Given the description of an element on the screen output the (x, y) to click on. 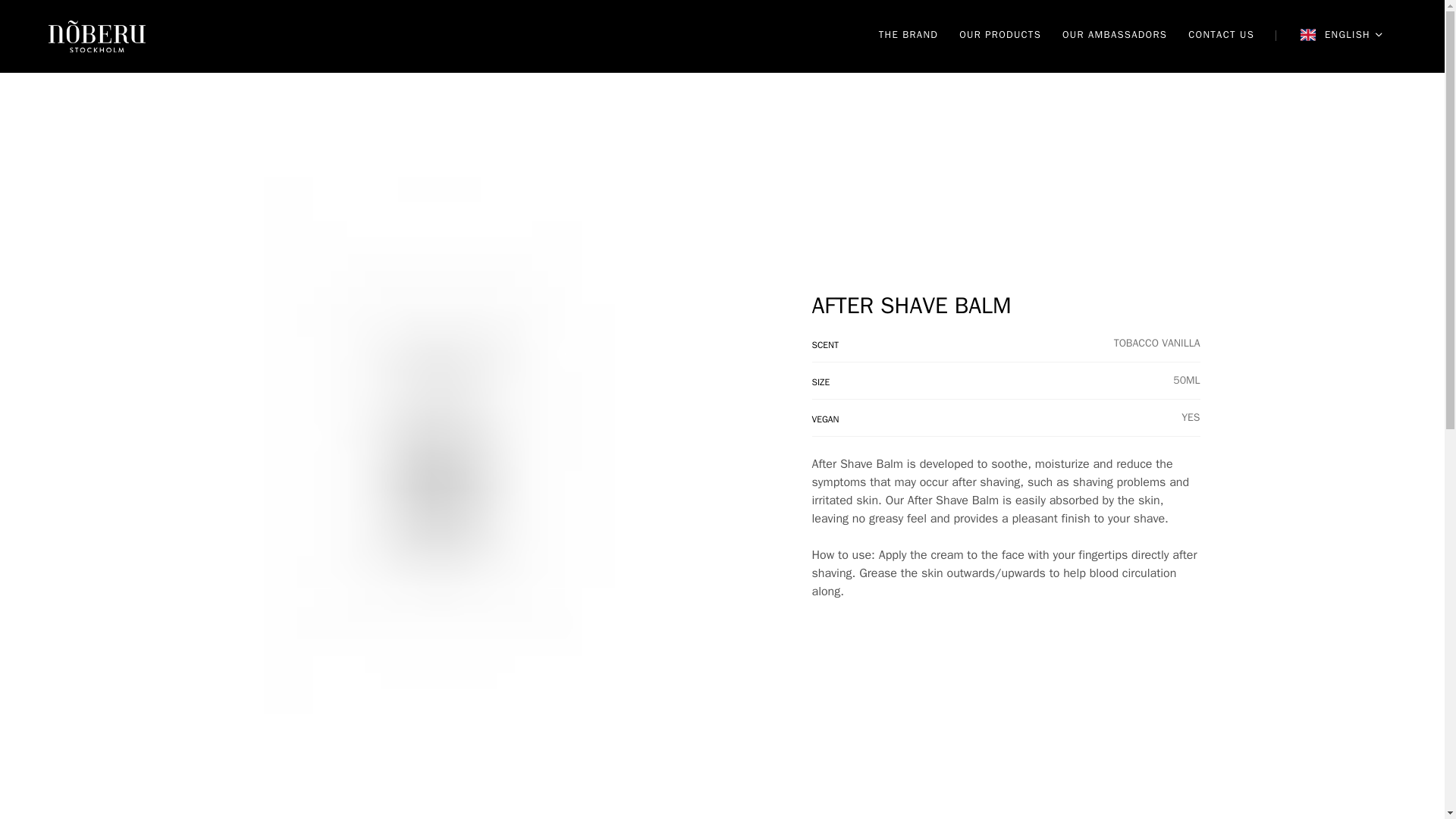
CONTACT US (1220, 36)
THE BRAND (908, 36)
OUR AMBASSADORS (1114, 36)
OUR PRODUCTS (1000, 36)
ENGLISH (1340, 36)
